Given the description of an element on the screen output the (x, y) to click on. 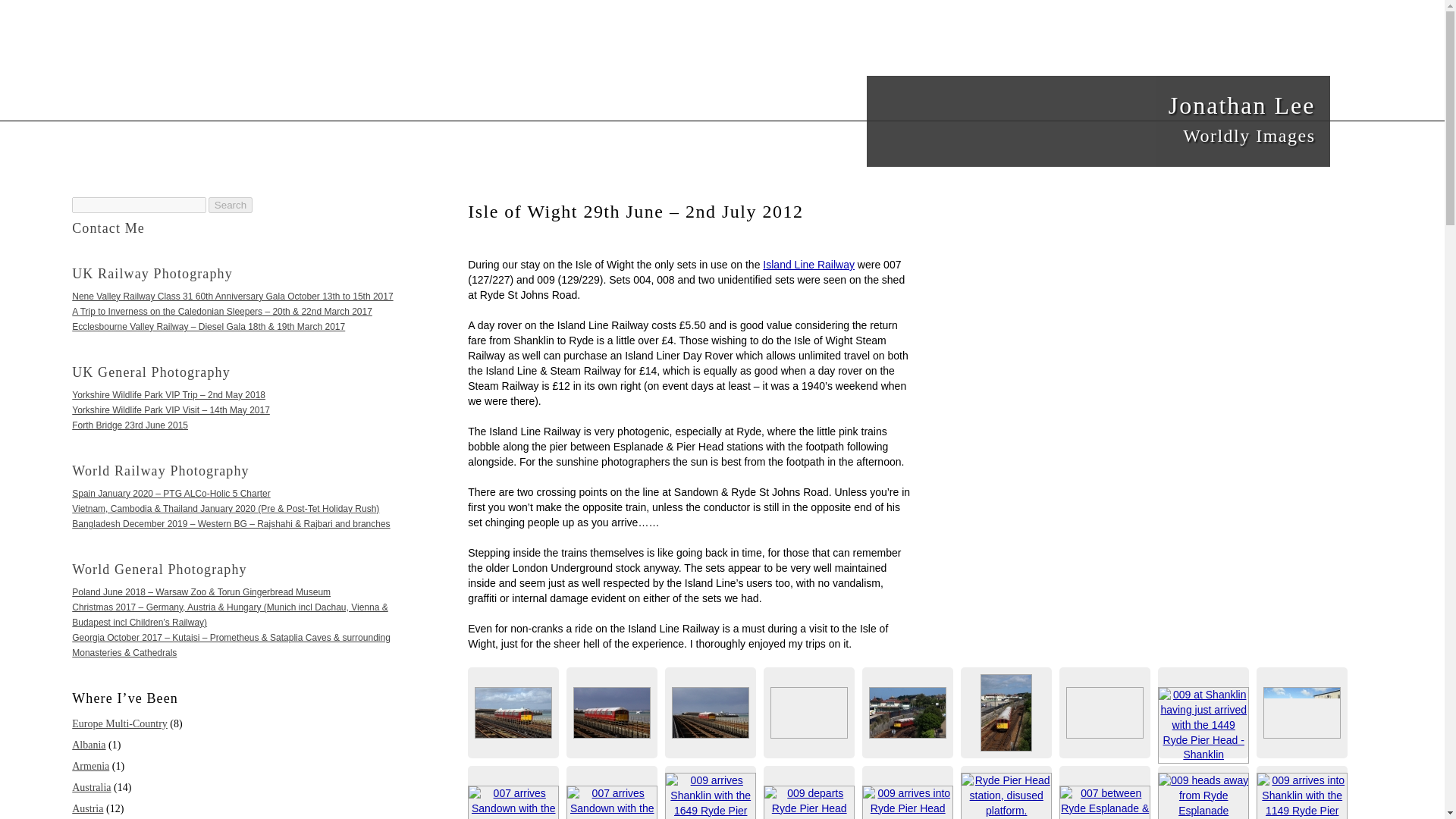
Search (1099, 120)
Search (229, 204)
Forth Bridge 23rd June 2015 (229, 204)
World Railway Photography (129, 425)
Contact Me (159, 470)
UK General Photography (107, 227)
UK Railway Photography (150, 372)
Island Line Railway (151, 273)
